Given the description of an element on the screen output the (x, y) to click on. 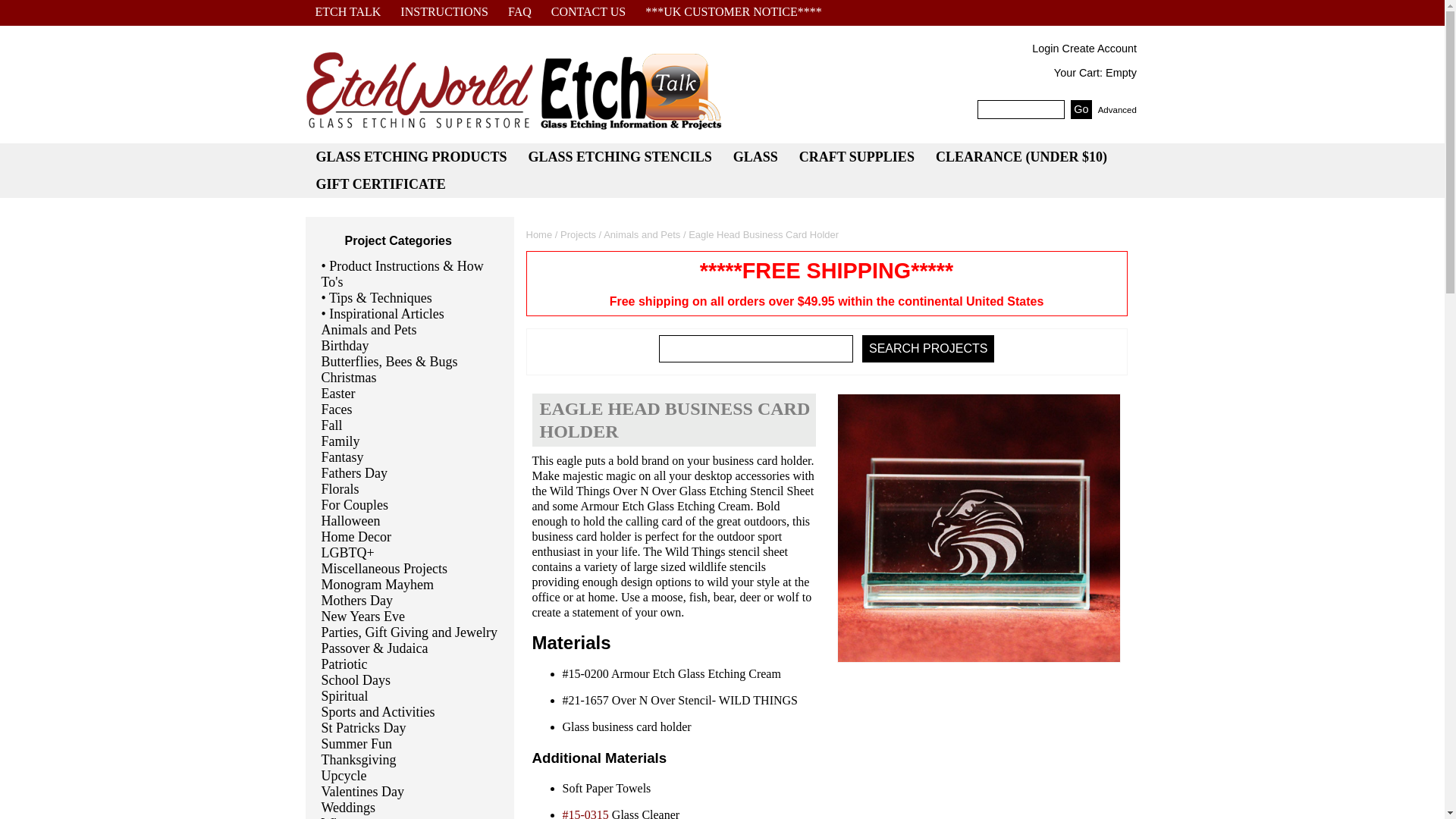
Christmas (409, 377)
Monogram Mayhem (409, 584)
Family (409, 441)
Contact Us (587, 12)
FAQ (519, 12)
Birthday (409, 345)
Facebook (843, 12)
Fall (409, 425)
Pinterest (892, 12)
Fall (409, 425)
ETCH TALK (347, 12)
School Days (409, 680)
New Years Eve (409, 616)
Search Projects (927, 348)
Home Decor (409, 537)
